Given the description of an element on the screen output the (x, y) to click on. 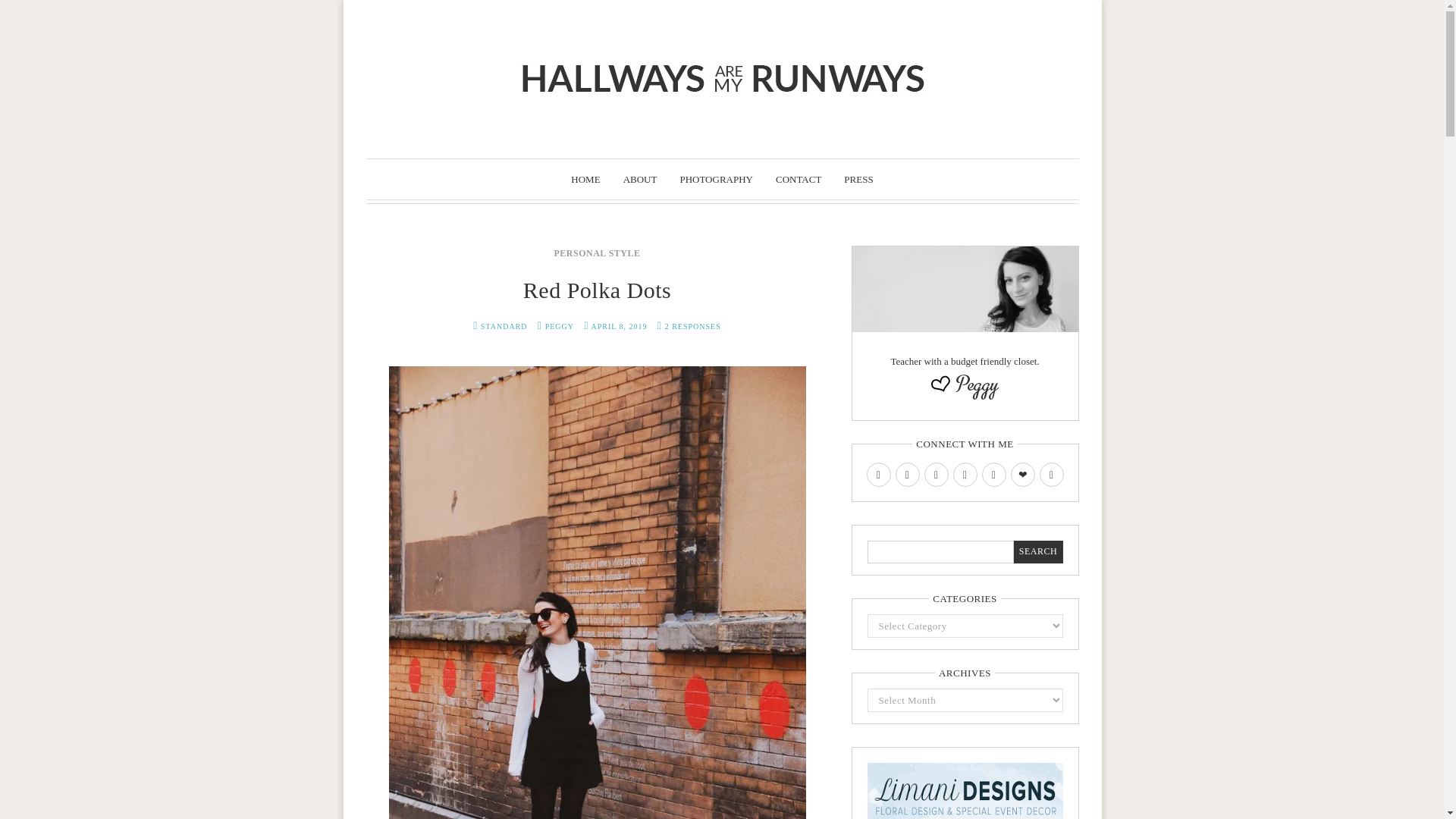
PHOTOGRAPHY (715, 179)
PERSONAL STYLE (596, 253)
ABOUT (640, 179)
HOME (584, 179)
PEGGY (558, 326)
Search (1037, 551)
PRESS (858, 179)
Posts by Peggy (558, 326)
CONTACT (798, 179)
2 RESPONSES (692, 326)
